Given the description of an element on the screen output the (x, y) to click on. 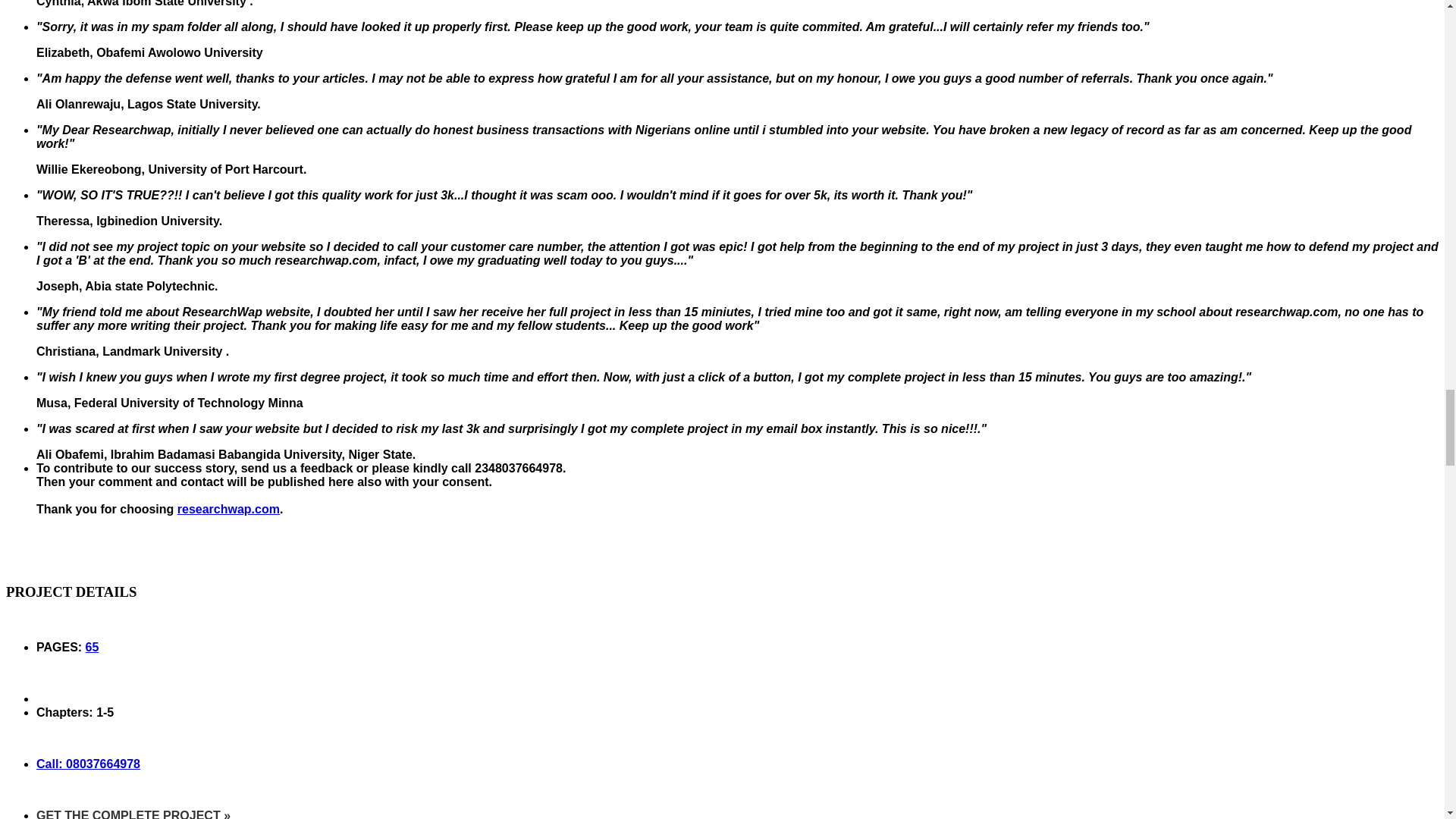
researchwap.com (228, 508)
65 (92, 646)
Call: 08037664978 (87, 763)
